Given the description of an element on the screen output the (x, y) to click on. 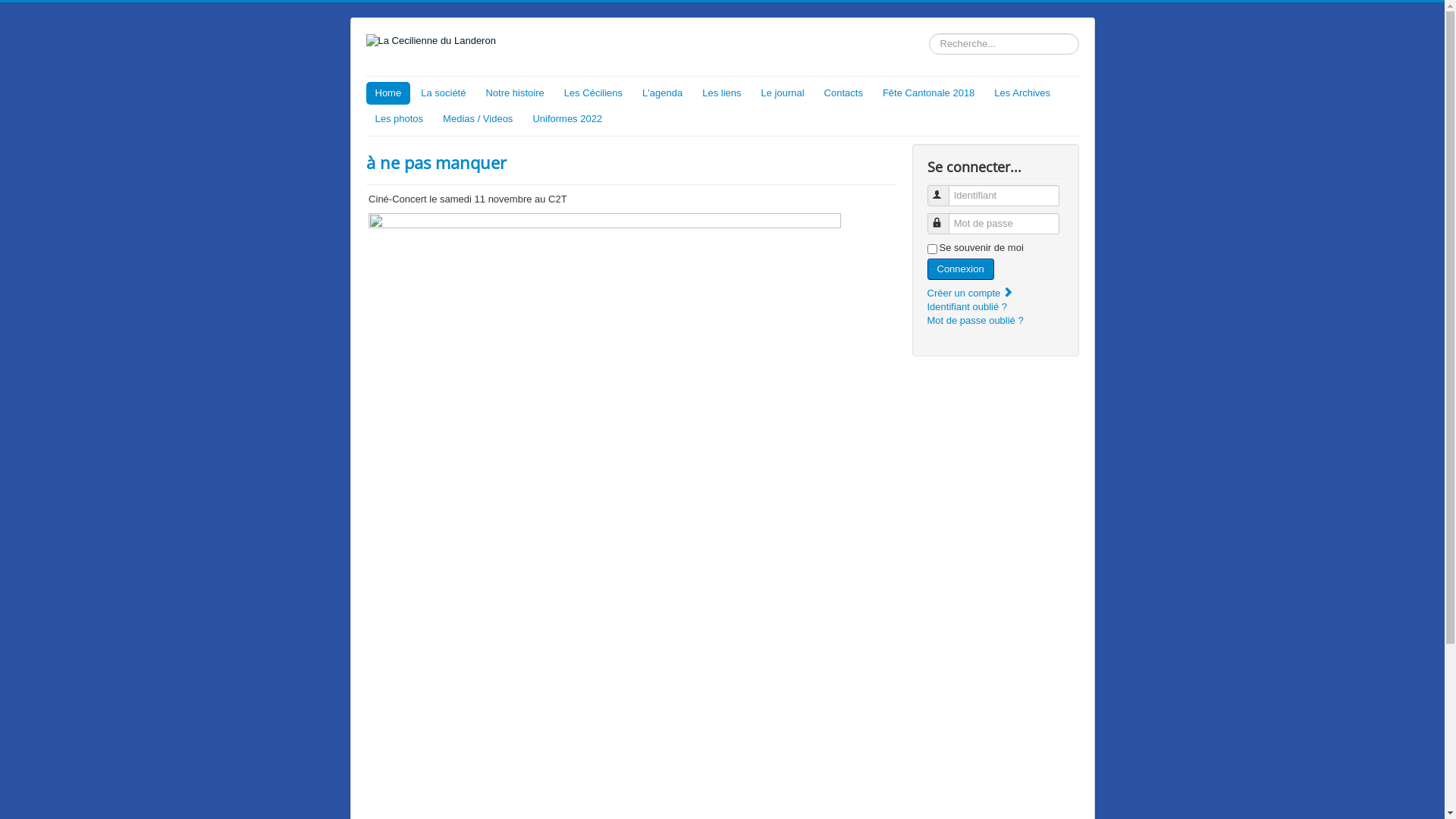
Uniformes 2022 Element type: text (567, 118)
Medias / Videos Element type: text (477, 118)
Connexion Element type: text (959, 268)
L'agenda Element type: text (662, 92)
Notre histoire Element type: text (514, 92)
Les Archives Element type: text (1022, 92)
Les liens Element type: text (721, 92)
Le journal Element type: text (782, 92)
Contacts Element type: text (843, 92)
Les photos Element type: text (398, 118)
Home Element type: text (387, 92)
